Given the description of an element on the screen output the (x, y) to click on. 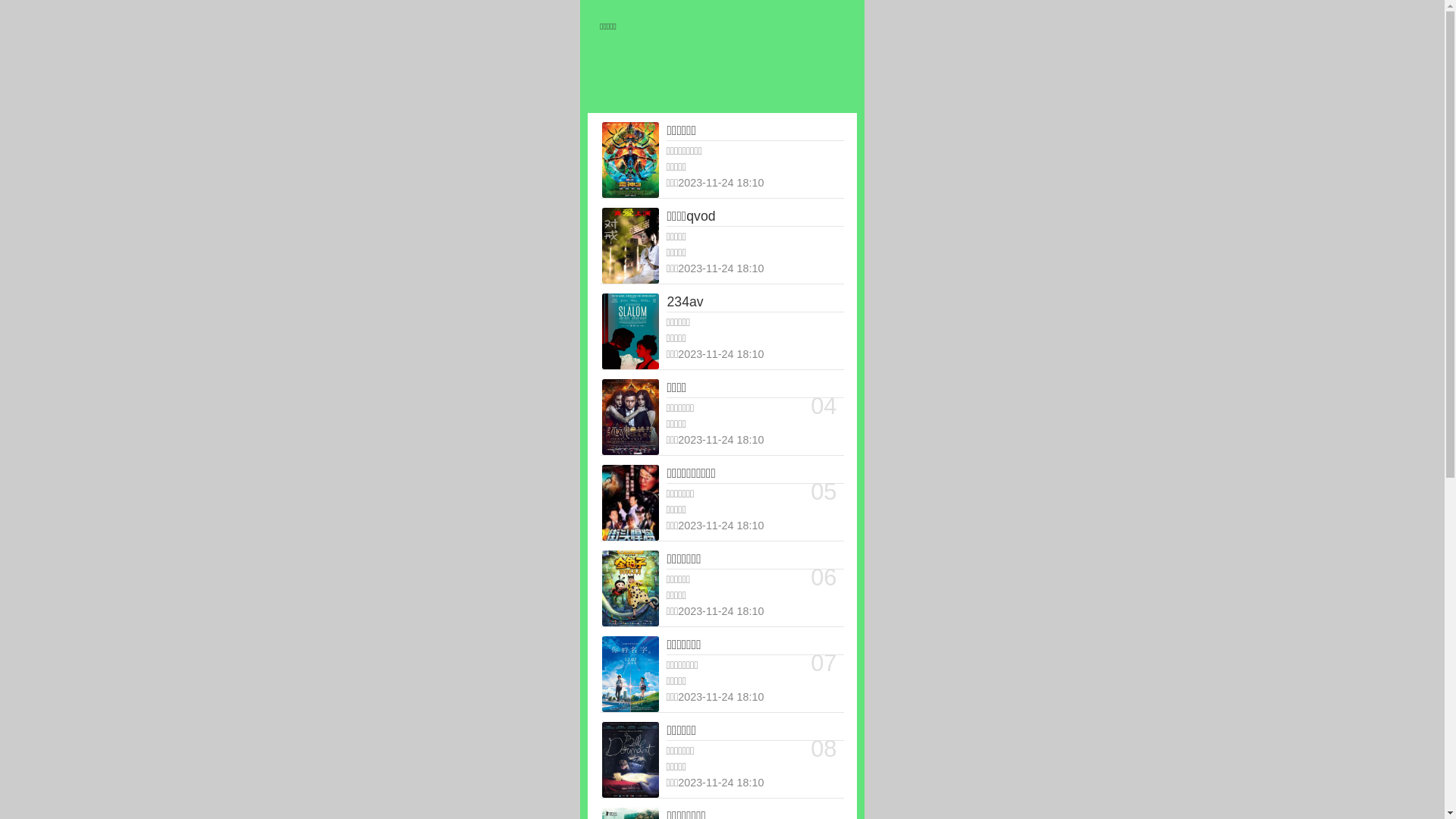
234av Element type: text (755, 302)
